Given the description of an element on the screen output the (x, y) to click on. 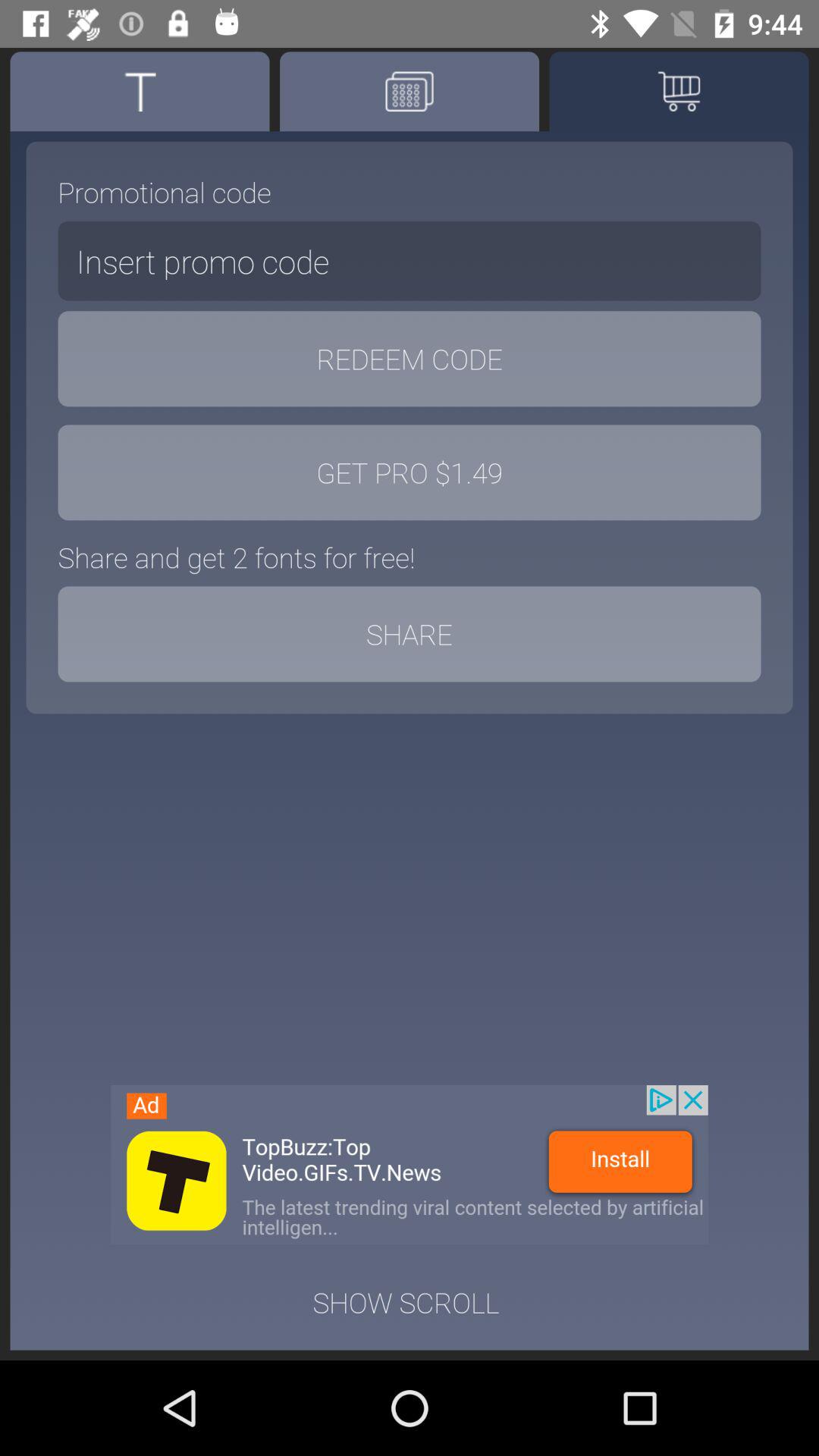
banner advertisement (409, 1164)
